Given the description of an element on the screen output the (x, y) to click on. 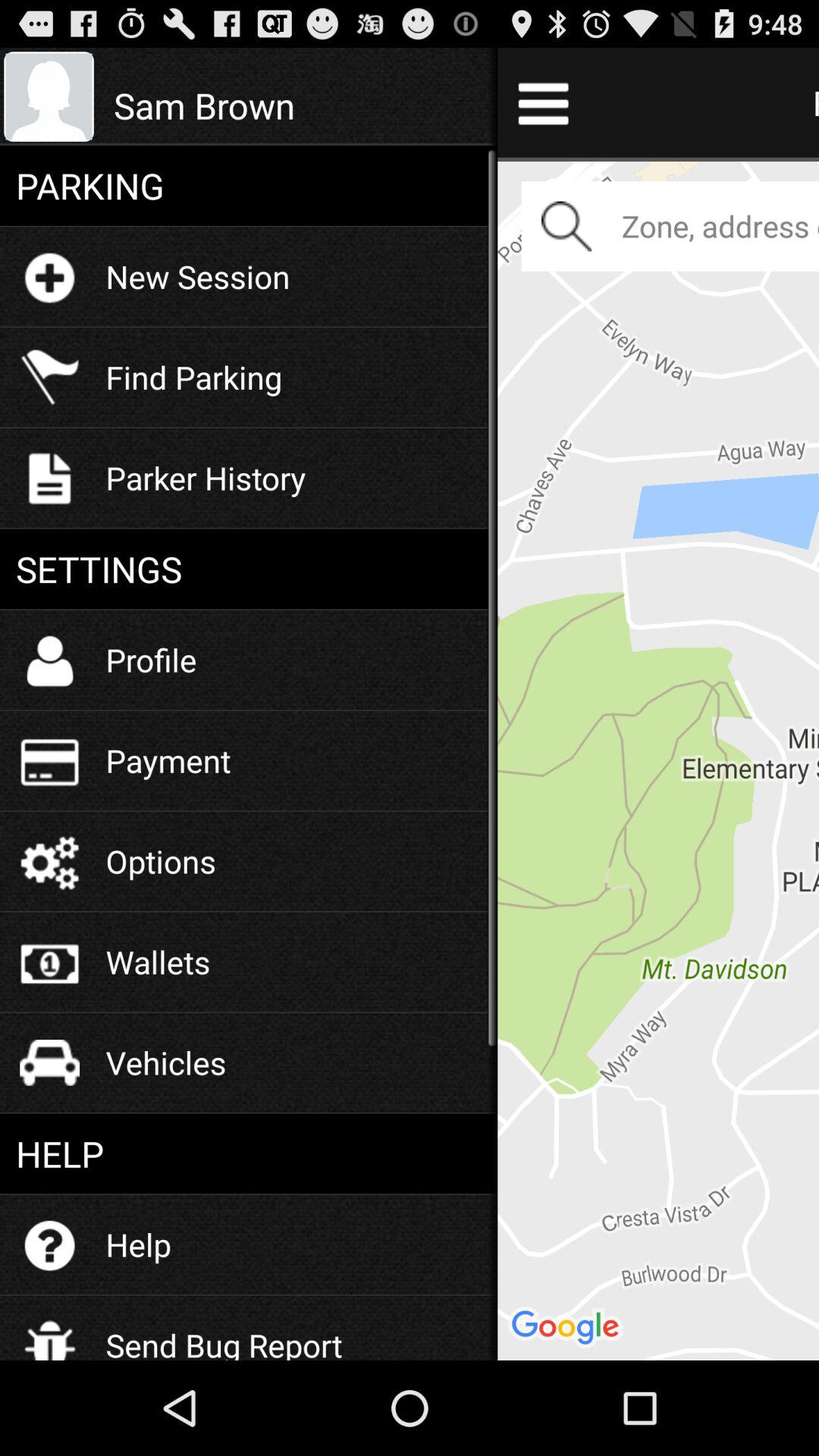
turn off the item next to the sam
brown item (658, 758)
